Given the description of an element on the screen output the (x, y) to click on. 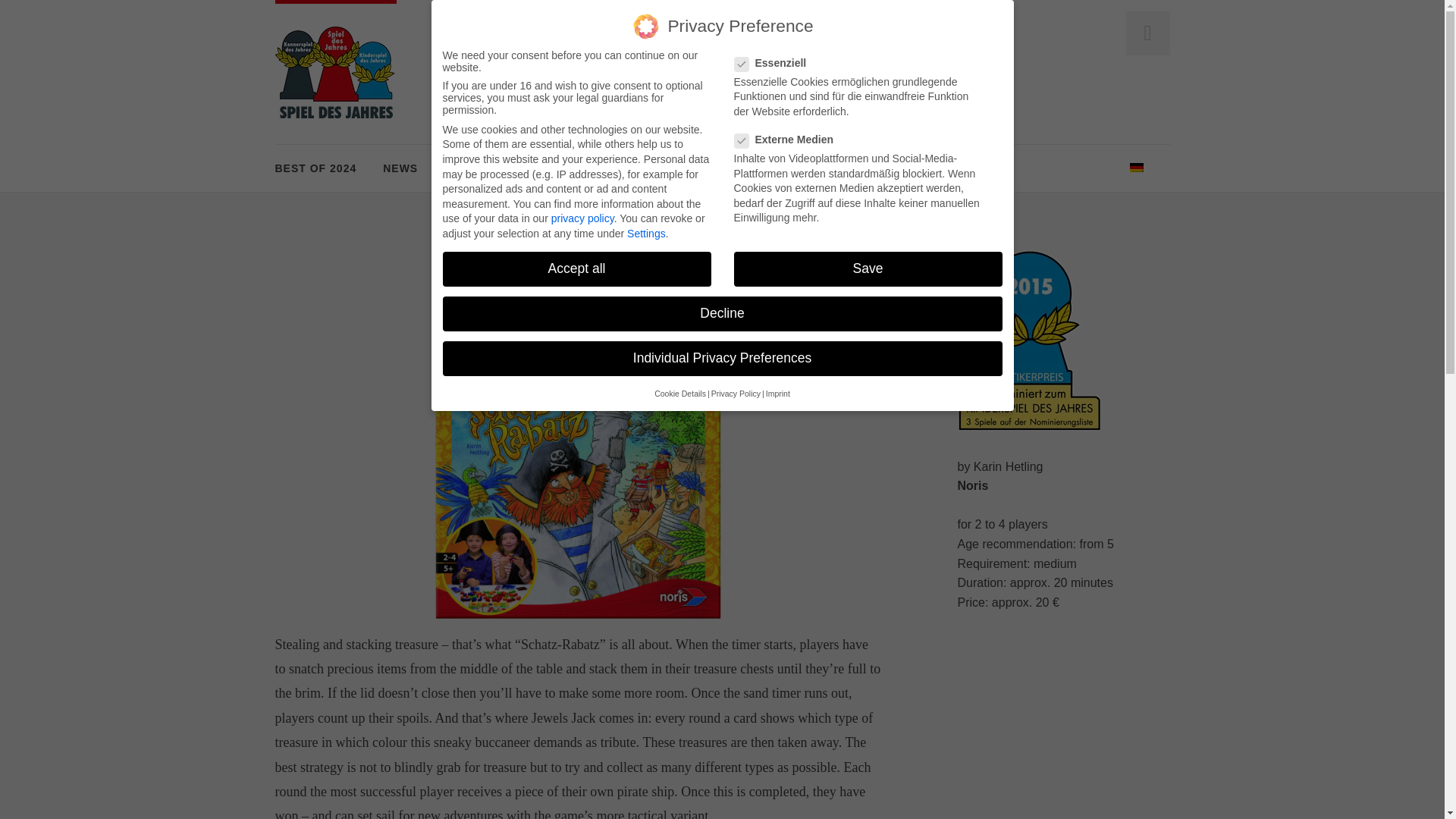
Accept all (576, 265)
JURY (553, 168)
Spiel des Jahres (335, 71)
Individual Privacy Preferences (722, 358)
Privacy Policy (735, 393)
Settings (646, 227)
Search (34, 13)
FAQ (607, 168)
Cookie Details (679, 393)
DATA BASE (477, 168)
